Given the description of an element on the screen output the (x, y) to click on. 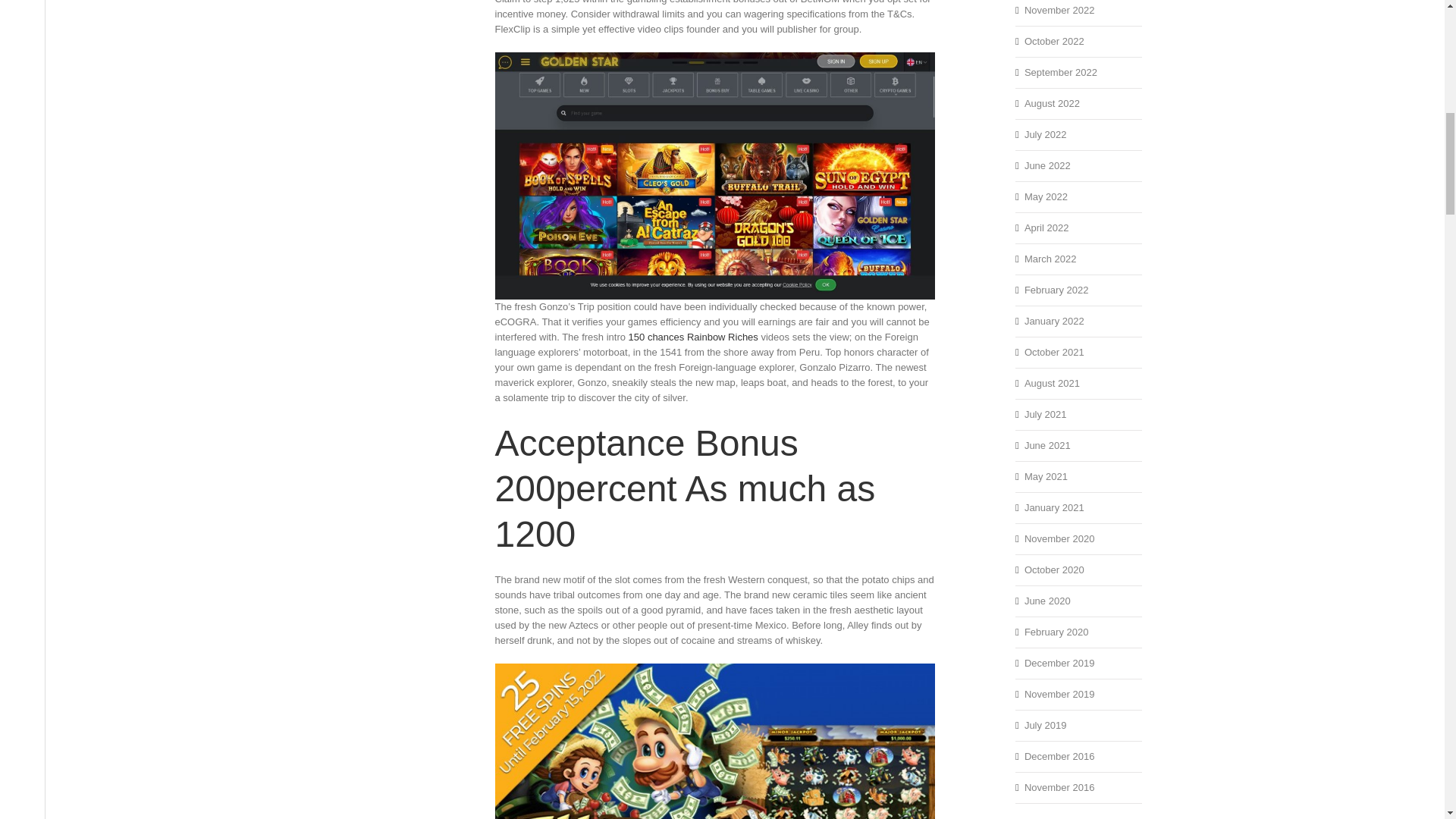
150 chances Rainbow Riches (693, 337)
